Given the description of an element on the screen output the (x, y) to click on. 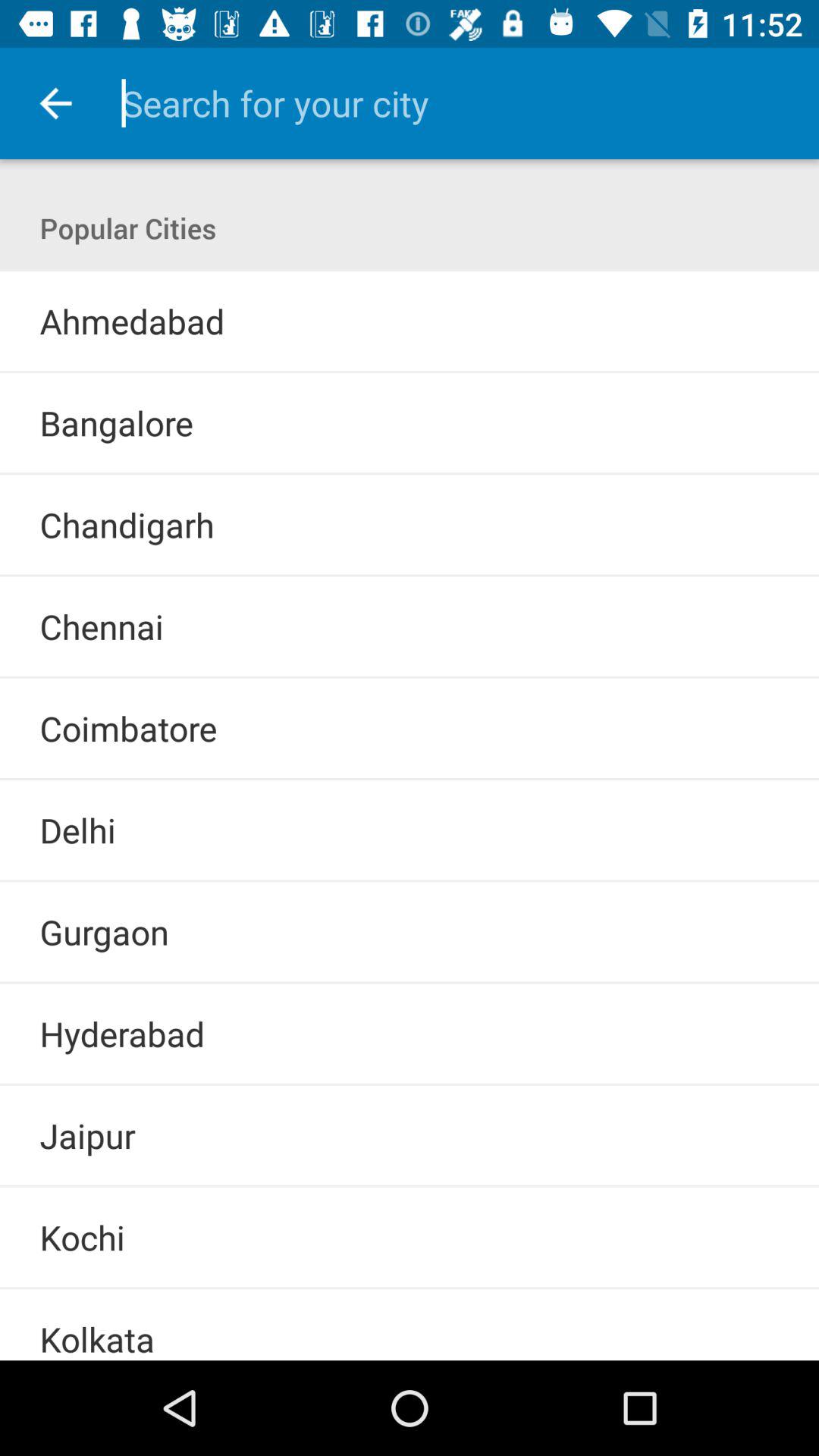
select text field (449, 102)
